Given the description of an element on the screen output the (x, y) to click on. 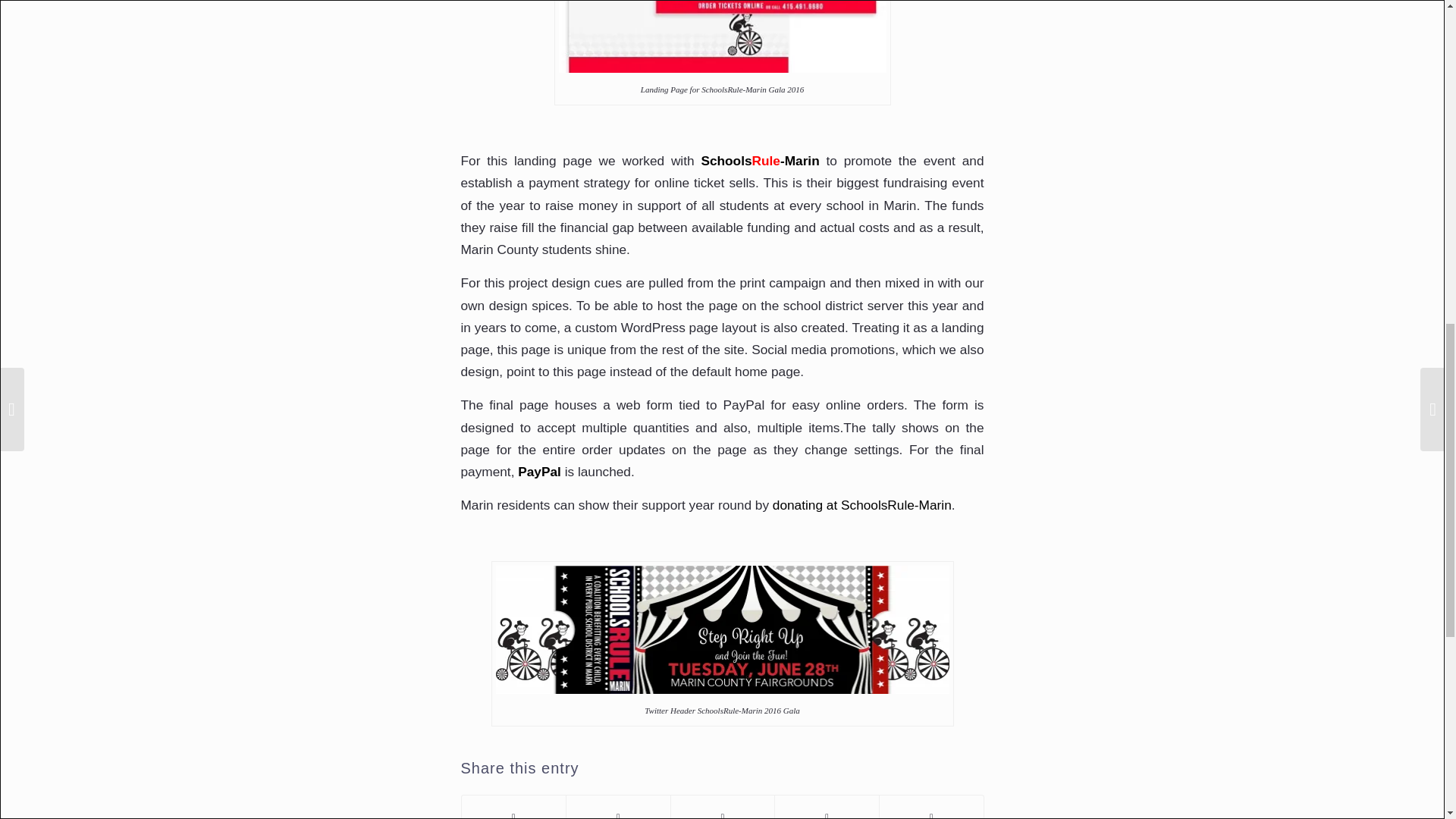
Twitter Header SchoolsRule-Marin 2016 Gala (722, 628)
donating at SchoolsRule-Marin (862, 504)
